Given the description of an element on the screen output the (x, y) to click on. 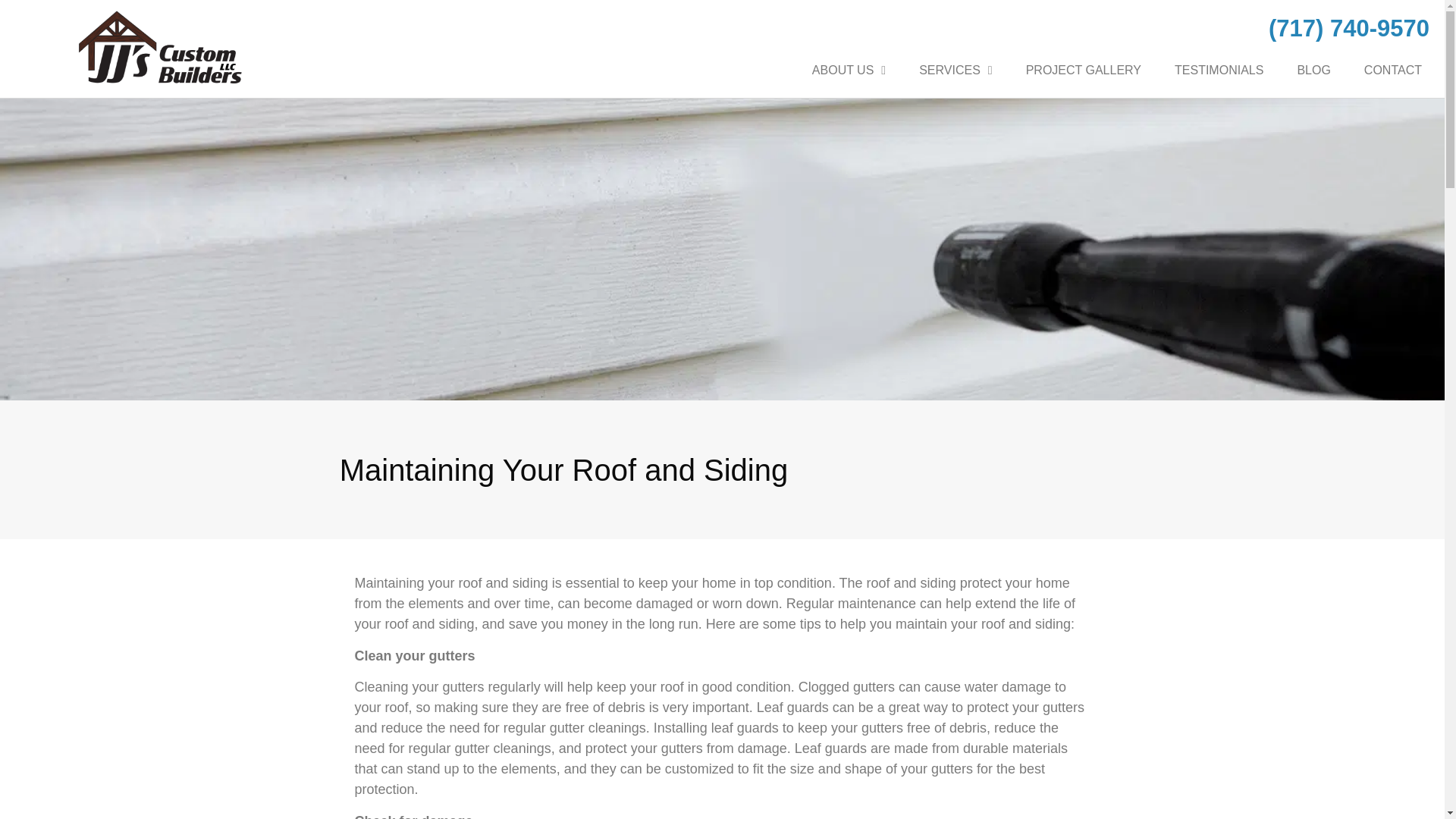
PROJECT GALLERY (1082, 69)
TESTIMONIALS (1219, 69)
CONTACT (1392, 69)
SERVICES (954, 69)
ABOUT US (849, 69)
BLOG (1313, 69)
